Given the description of an element on the screen output the (x, y) to click on. 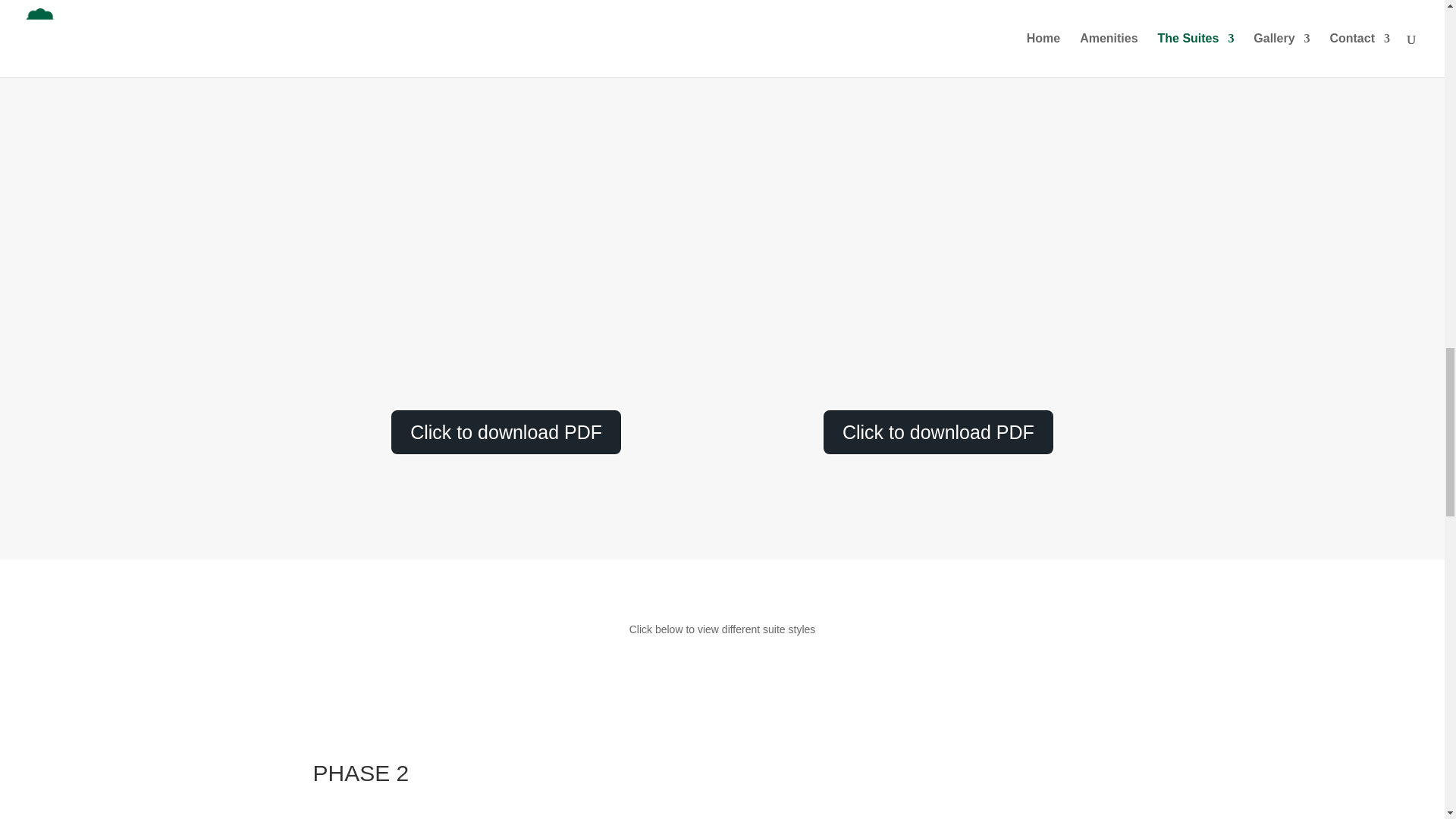
Click to download PDF (506, 431)
Click to download PDF (938, 431)
